Given the description of an element on the screen output the (x, y) to click on. 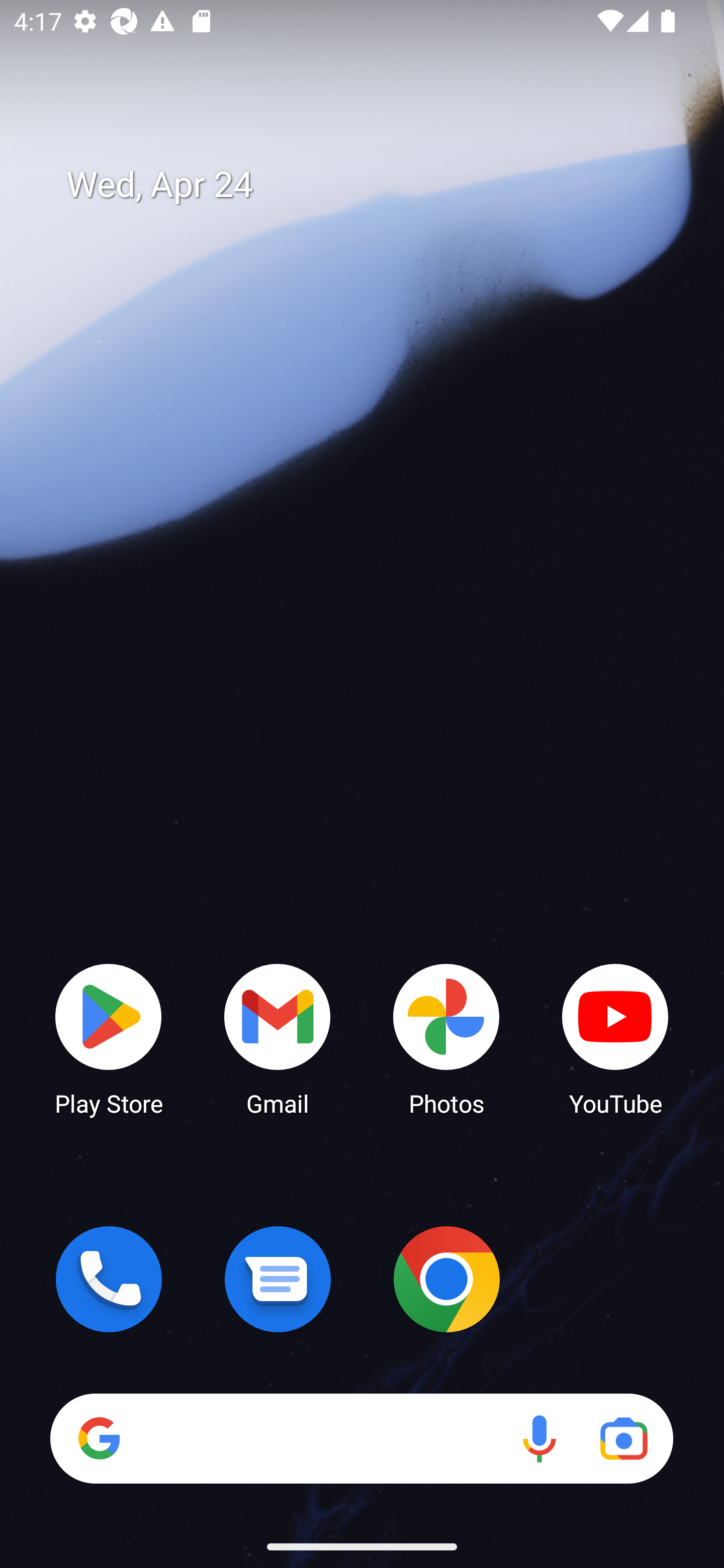
Wed, Apr 24 (375, 184)
Play Store (108, 1038)
Gmail (277, 1038)
Photos (445, 1038)
YouTube (615, 1038)
Phone (108, 1279)
Messages (277, 1279)
Chrome (446, 1279)
Search Voice search Google Lens (361, 1438)
Voice search (539, 1438)
Google Lens (623, 1438)
